Given the description of an element on the screen output the (x, y) to click on. 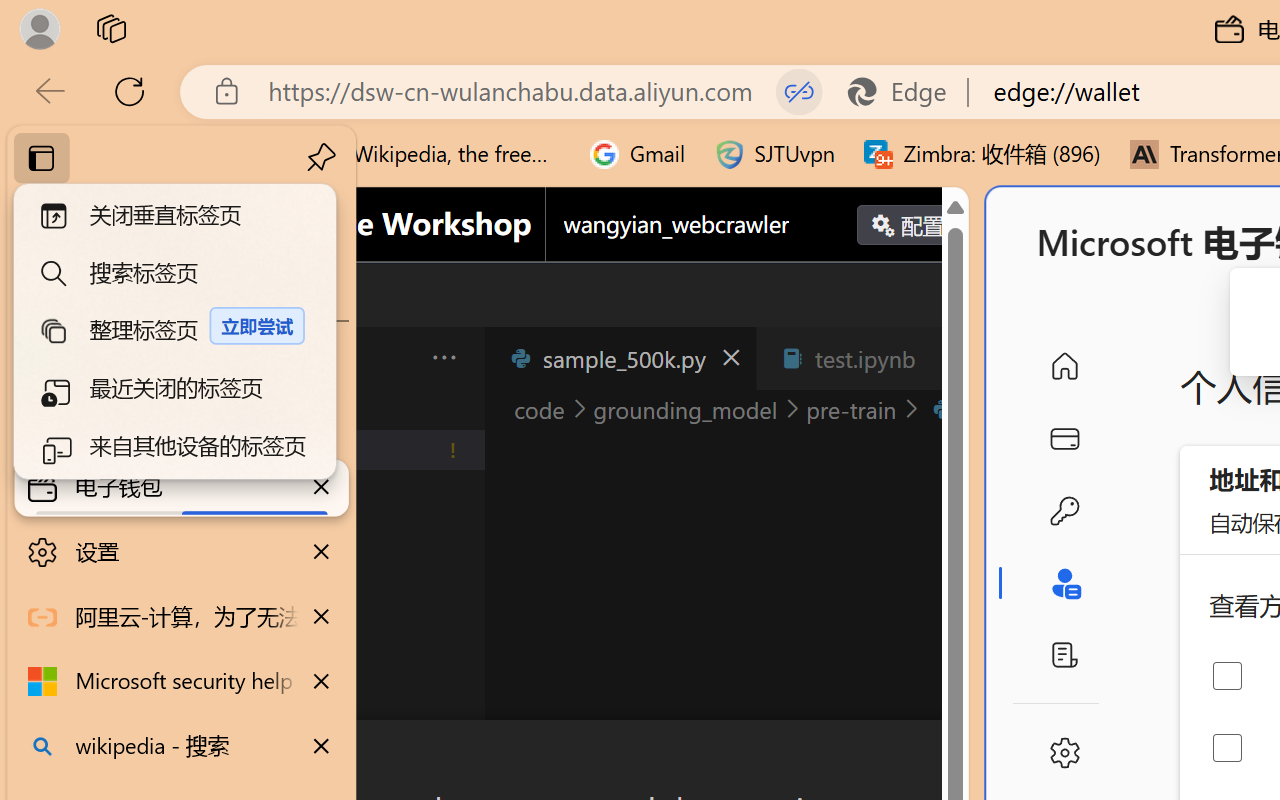
Views and More Actions... (442, 357)
Search (Ctrl+Shift+F) (135, 519)
Class: actions-container (529, 756)
Explorer Section: wangyian (331, 409)
Tab actions (945, 358)
Close Dialog (959, 756)
